Given the description of an element on the screen output the (x, y) to click on. 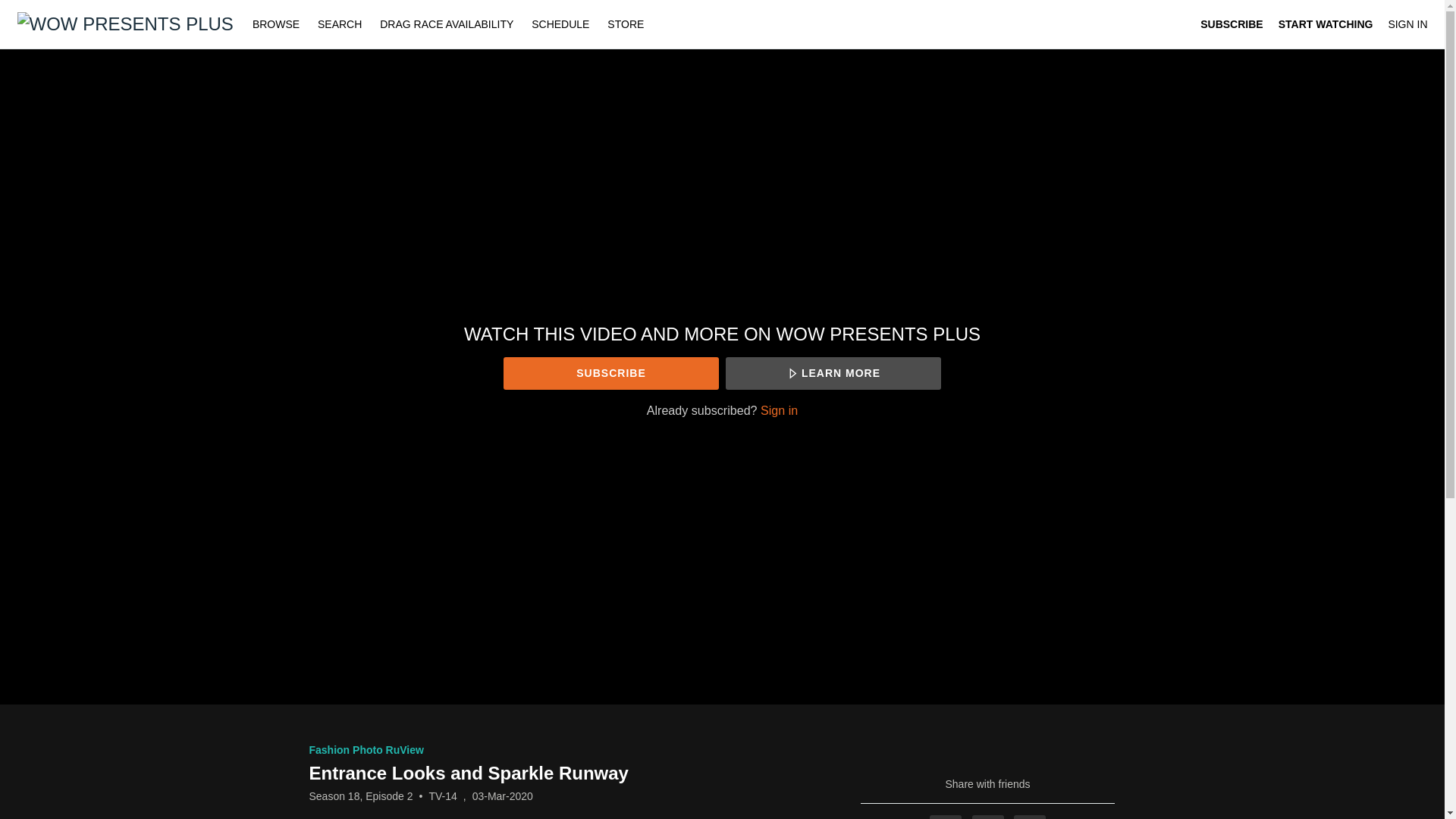
SUBSCRIBE (610, 373)
03-Mar-2020 (501, 795)
SUBSCRIBE (1230, 24)
STORE (624, 24)
Sign in (778, 409)
BROWSE (277, 24)
SCHEDULE (560, 24)
Email (1029, 816)
Twitter (988, 816)
Facebook (945, 816)
